Given the description of an element on the screen output the (x, y) to click on. 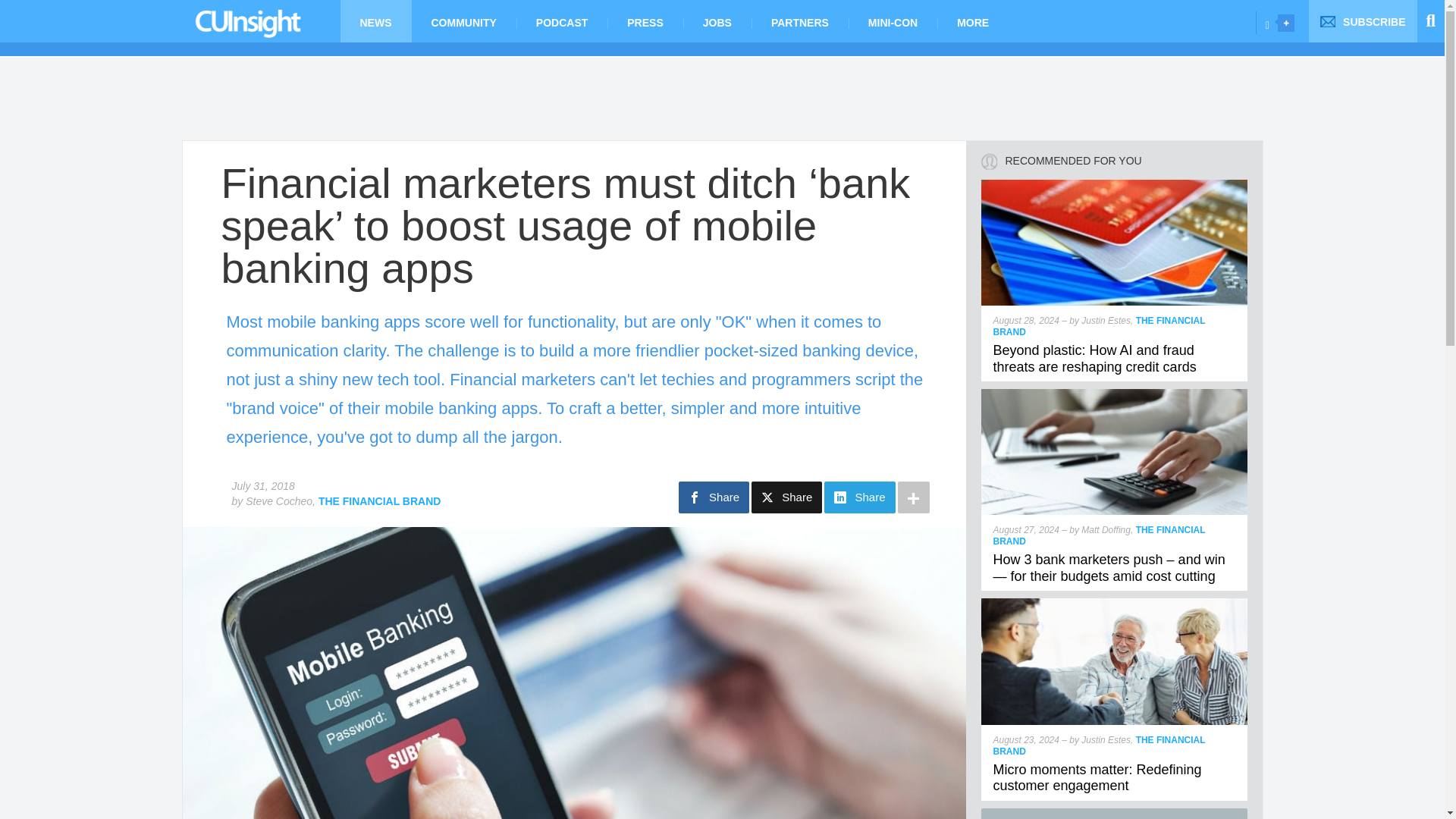
Micro moments matter: Redefining customer engagement (1097, 777)
SUBSCRIBE (1362, 21)
MORE (973, 21)
PRESS (644, 21)
Share (786, 497)
NEWS (374, 21)
PARTNERS (799, 21)
Share (859, 497)
THE FINANCIAL BRAND (379, 500)
